Given the description of an element on the screen output the (x, y) to click on. 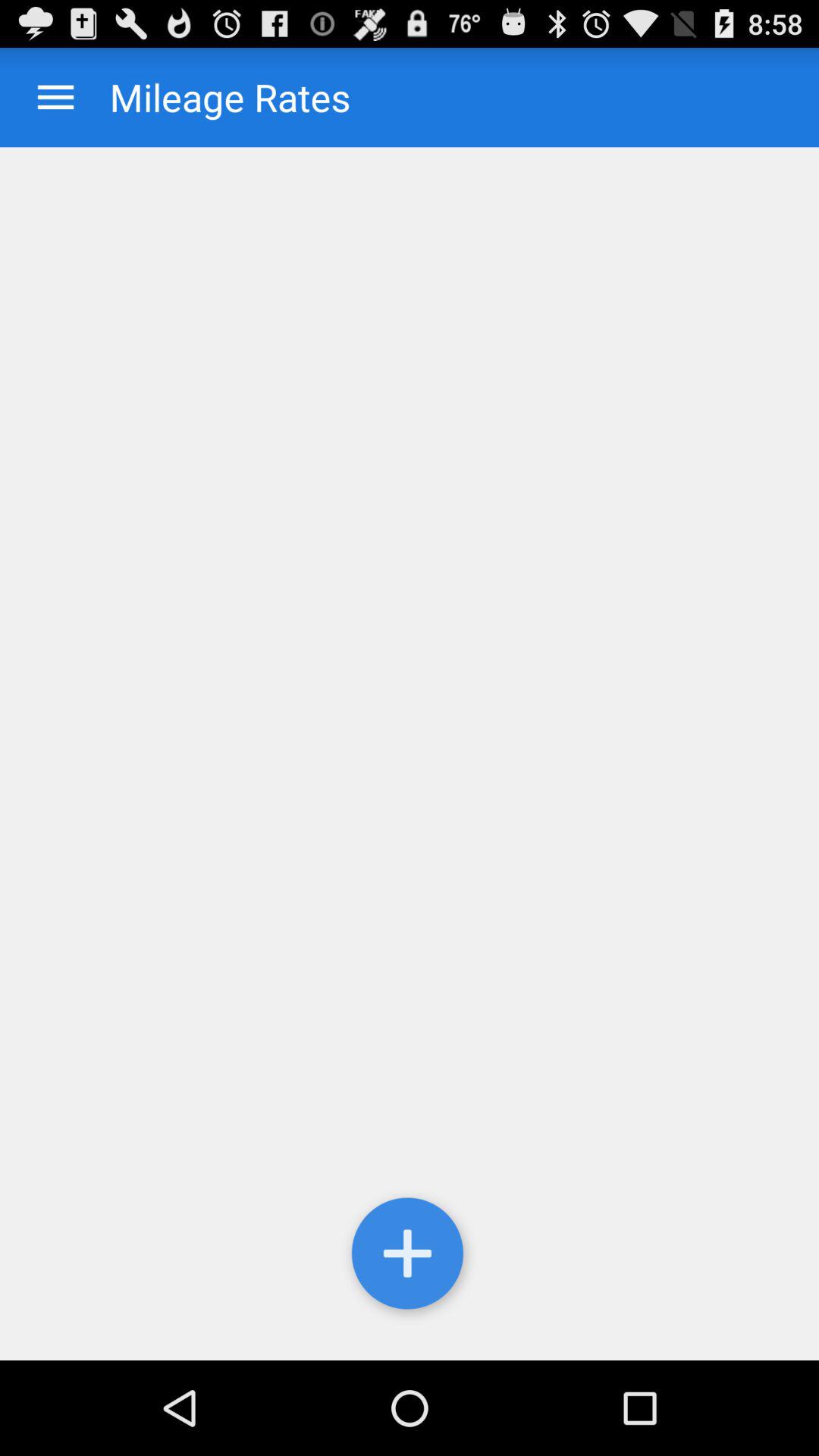
launch the item at the center (409, 753)
